Given the description of an element on the screen output the (x, y) to click on. 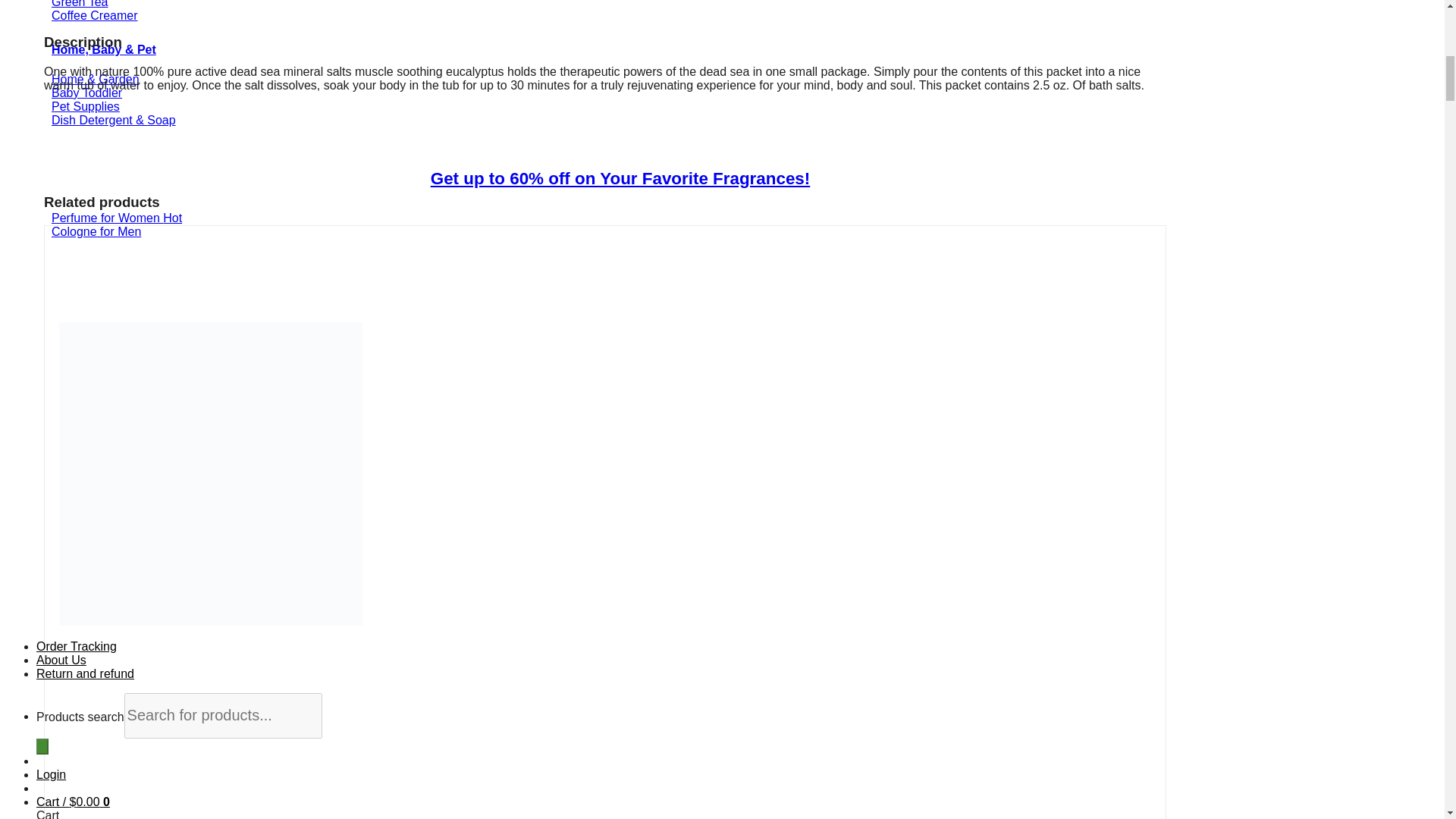
Login (50, 773)
Perfume for Women (116, 216)
Cart (73, 800)
Green Tea (78, 4)
Pet Supplies (84, 106)
Baby Toddler (86, 92)
Coffee Creamer (94, 15)
